Given the description of an element on the screen output the (x, y) to click on. 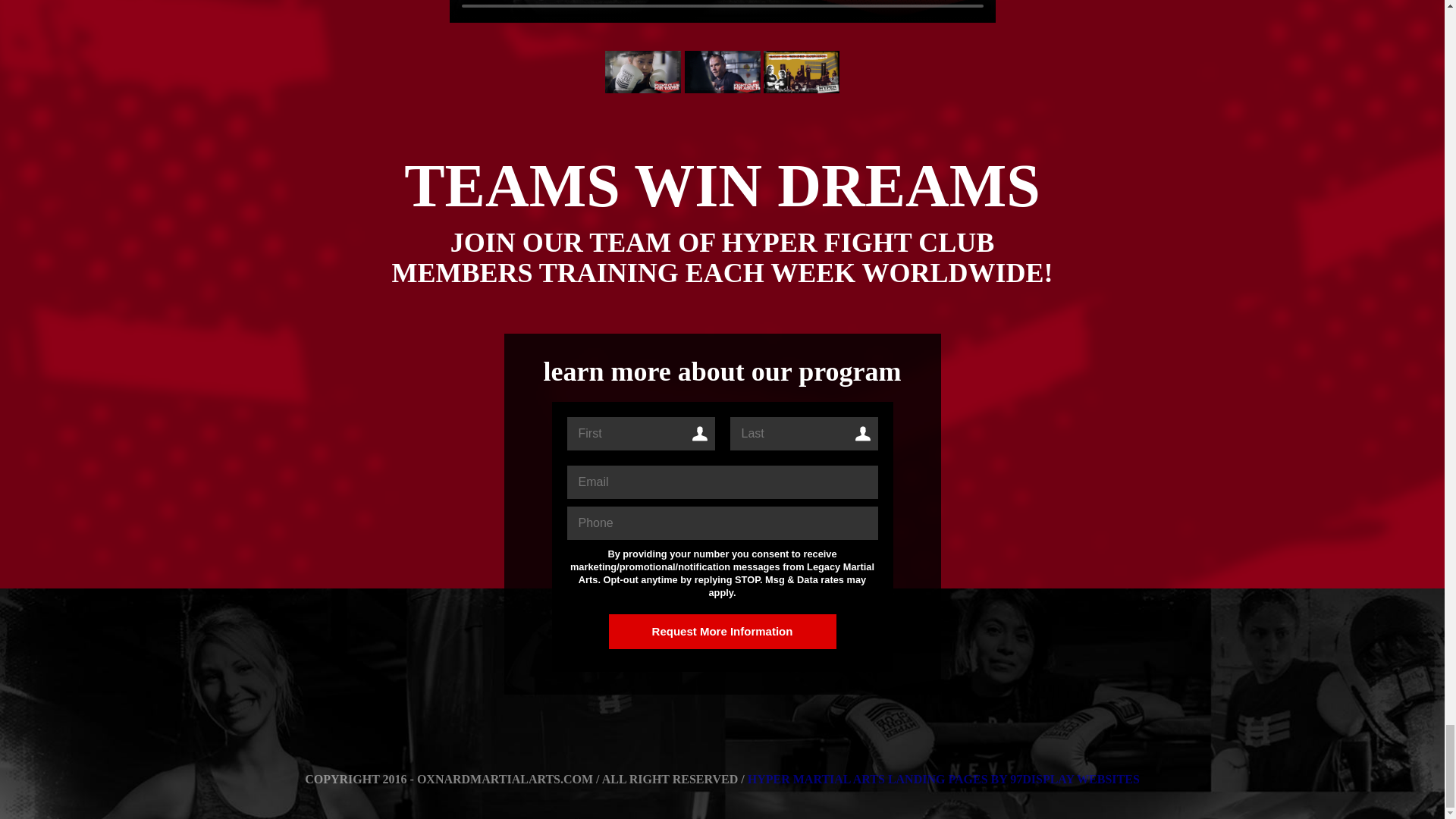
Required (722, 482)
Last (803, 433)
HYPER MARTIAL ARTS LANDING PAGES BY 97DISPLAY WEBSITES (944, 779)
Request More Information (721, 631)
Required (722, 522)
Request More Information (721, 631)
First (640, 433)
